Given the description of an element on the screen output the (x, y) to click on. 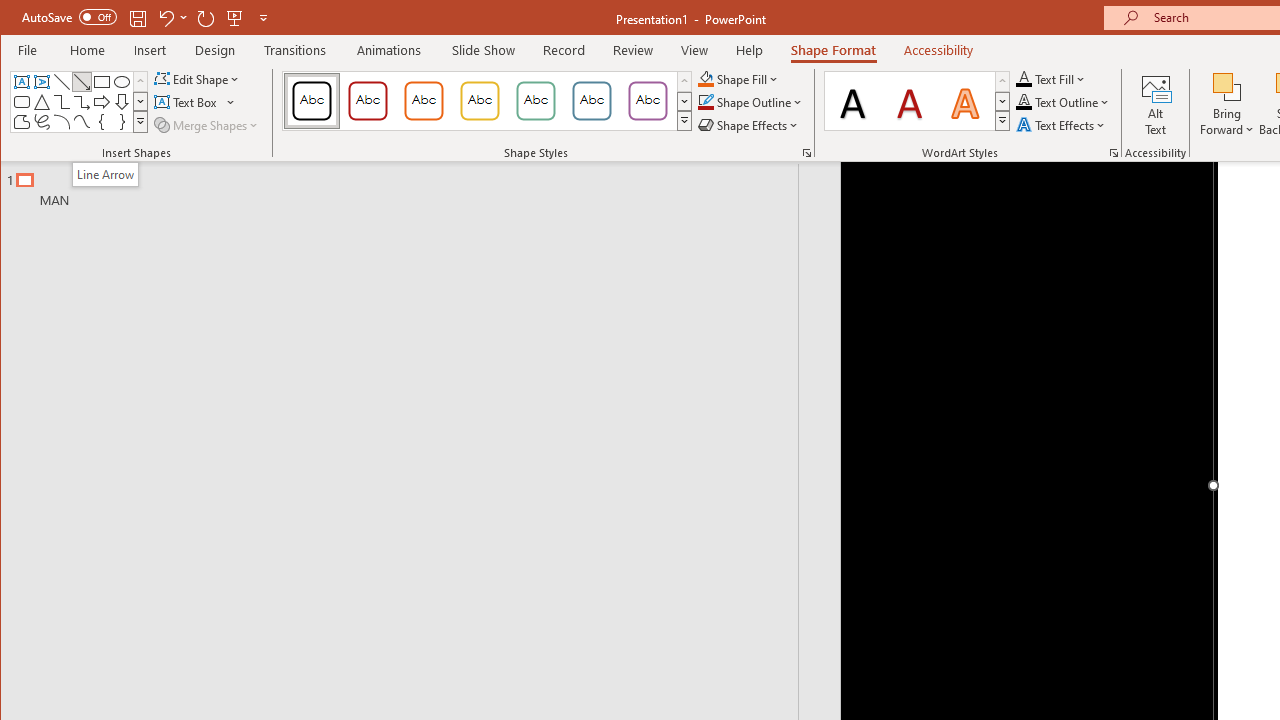
Colored Outline - Black, Dark 1 (312, 100)
Colored Outline - Purple, Accent 6 (647, 100)
Colored Outline - Dark Red, Accent 1 (367, 100)
Text Fill (1051, 78)
AutomationID: TextStylesGallery (917, 101)
Colored Outline - Gold, Accent 3 (479, 100)
